Given the description of an element on the screen output the (x, y) to click on. 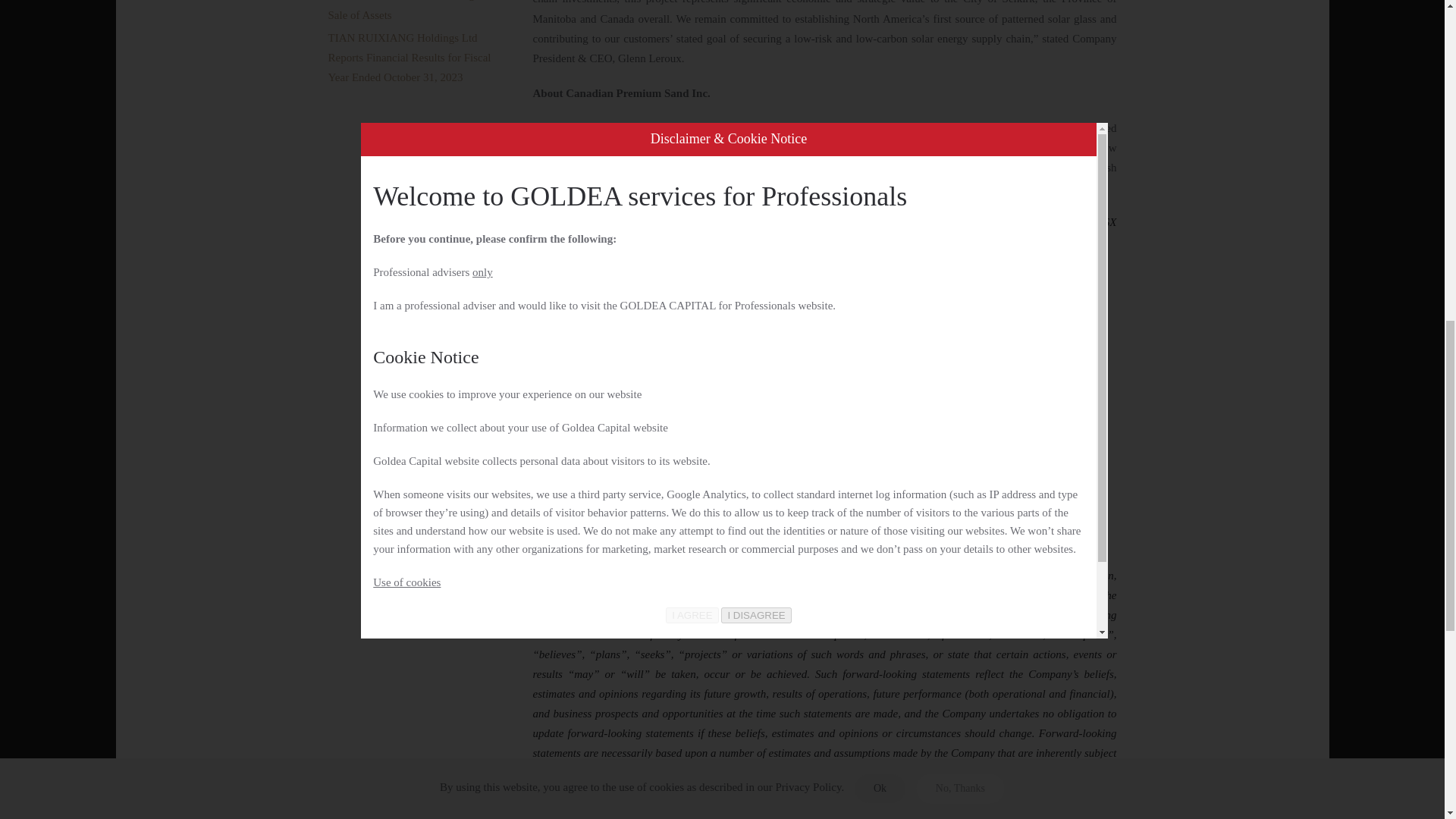
www.cpsglass.com (576, 482)
